Given the description of an element on the screen output the (x, y) to click on. 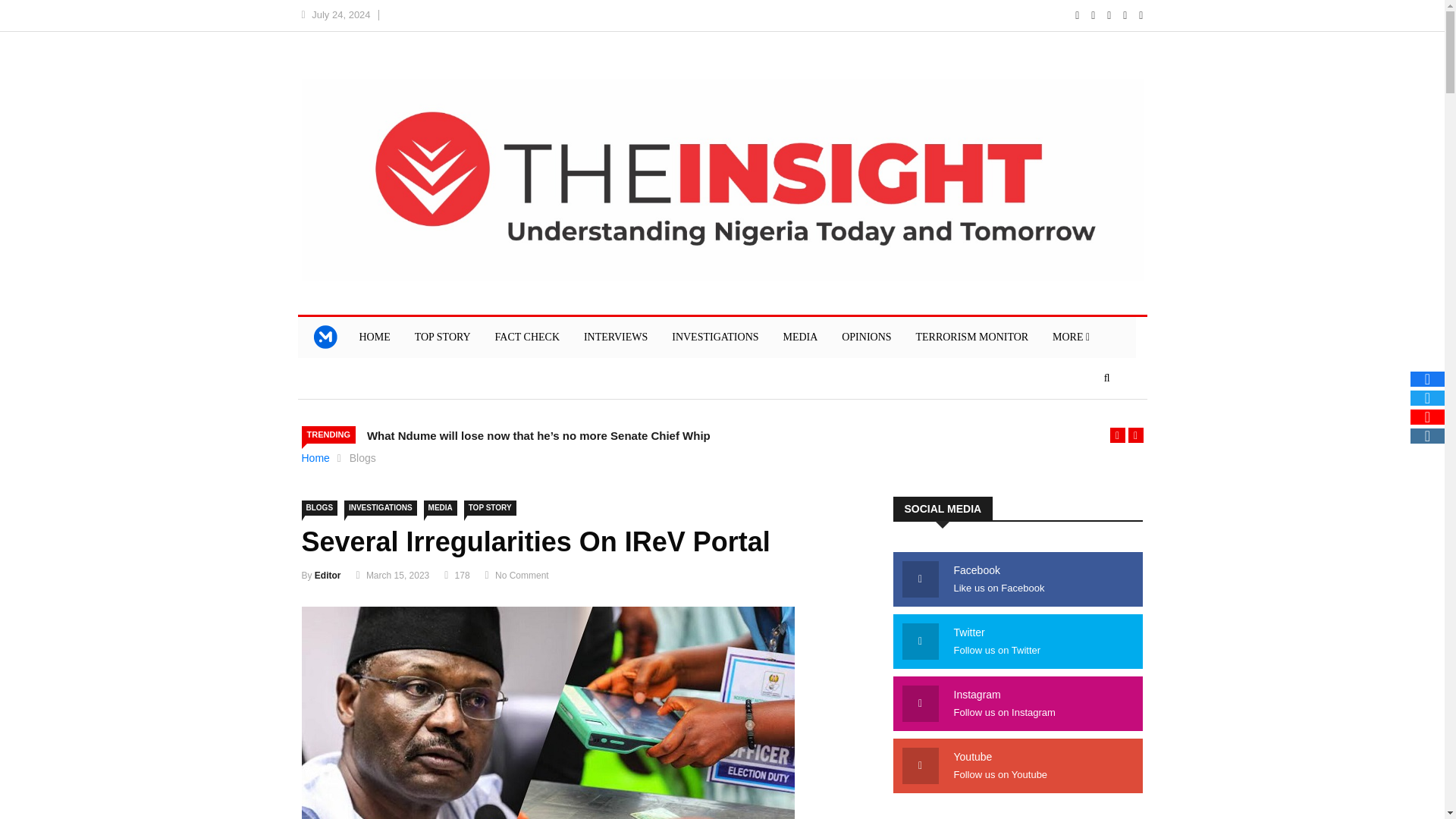
Home (315, 458)
TOP STORY (442, 336)
INTERVIEWS (615, 336)
Blogs (362, 458)
MEDIA (799, 336)
TOP STORY (490, 507)
INVESTIGATIONS (714, 336)
MORE (1071, 336)
FACT CHECK (527, 336)
INVESTIGATIONS (379, 507)
No Comment (521, 575)
HOME (375, 336)
Editor (327, 575)
BLOGS (319, 507)
